Given the description of an element on the screen output the (x, y) to click on. 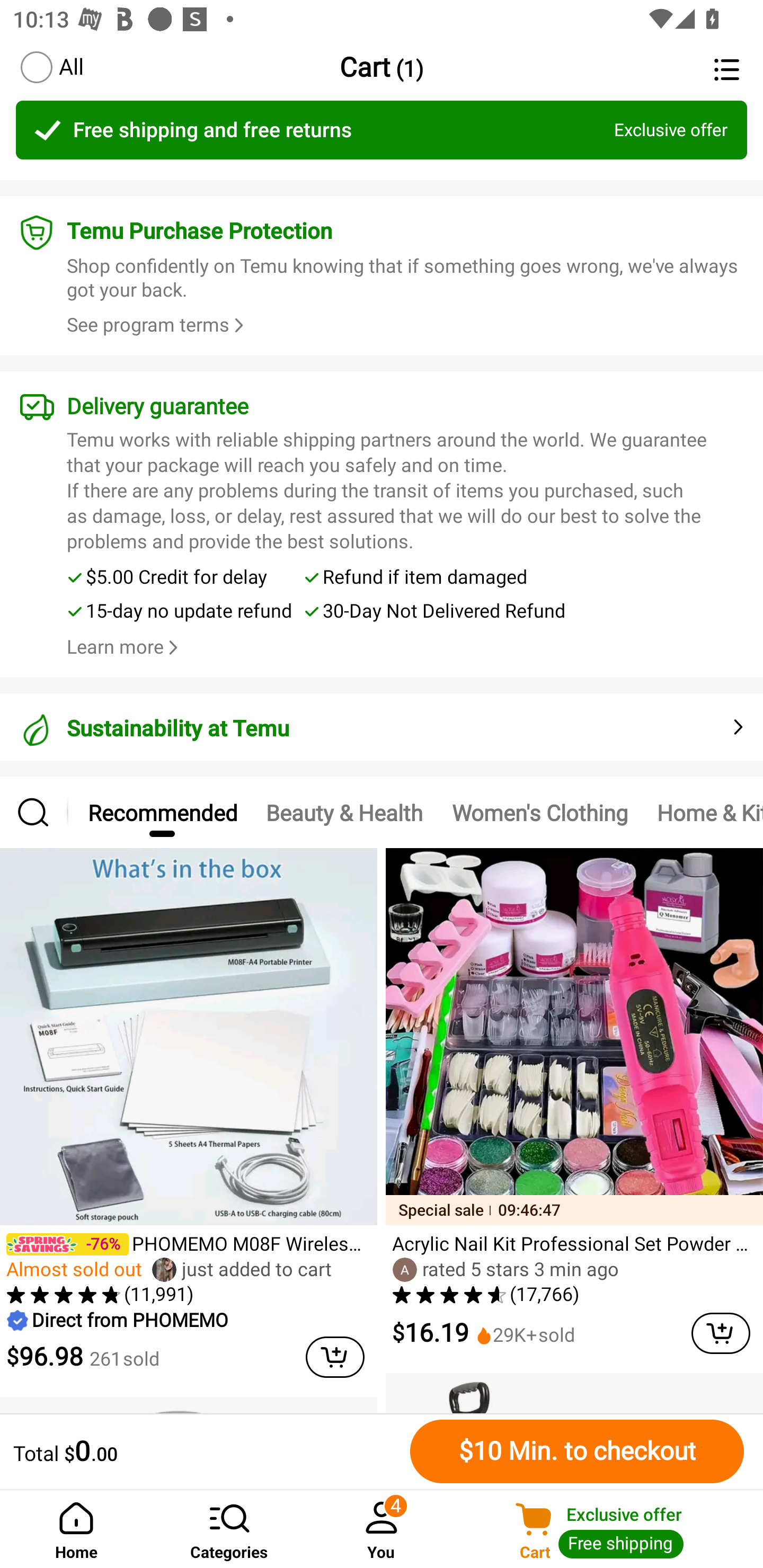
Select all tick button All (51, 67)
Free shipping and free returns Exclusive offer (381, 129)
See program terms (157, 325)
Learn more (115, 647)
Sustainability at Temu (381, 718)
Recommended (162, 812)
Beauty & Health (344, 812)
Women's Clothing (539, 812)
cart delete (720, 1333)
cart delete (334, 1356)
Total $0.00 (206, 1450)
Checkout $10 Min. to checkout (576, 1451)
Home (76, 1528)
Categories (228, 1528)
You 4 You (381, 1528)
Cart Cart Exclusive offer (610, 1528)
